Given the description of an element on the screen output the (x, y) to click on. 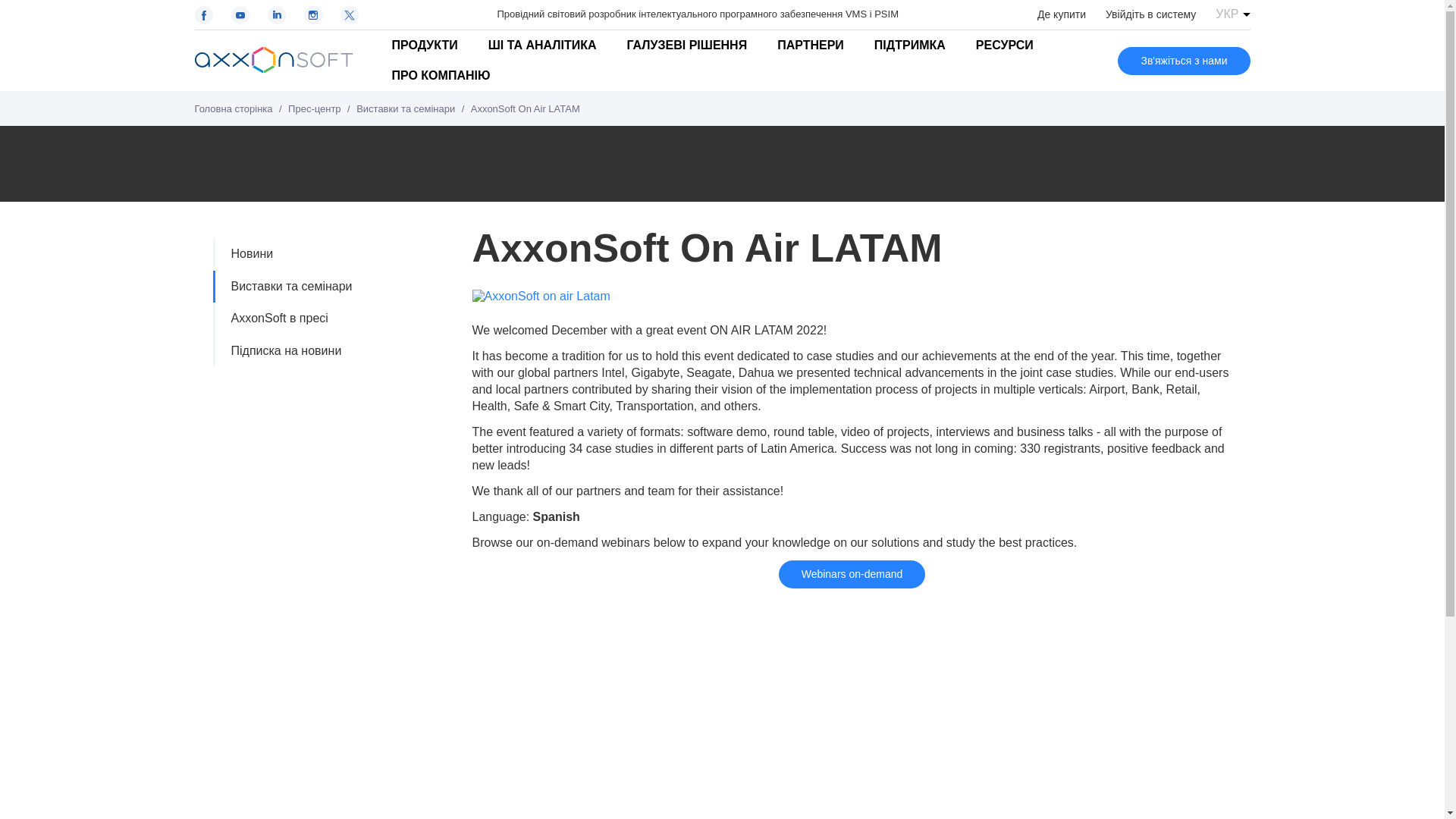
AxxonSoft on air Latam (540, 296)
